Given the description of an element on the screen output the (x, y) to click on. 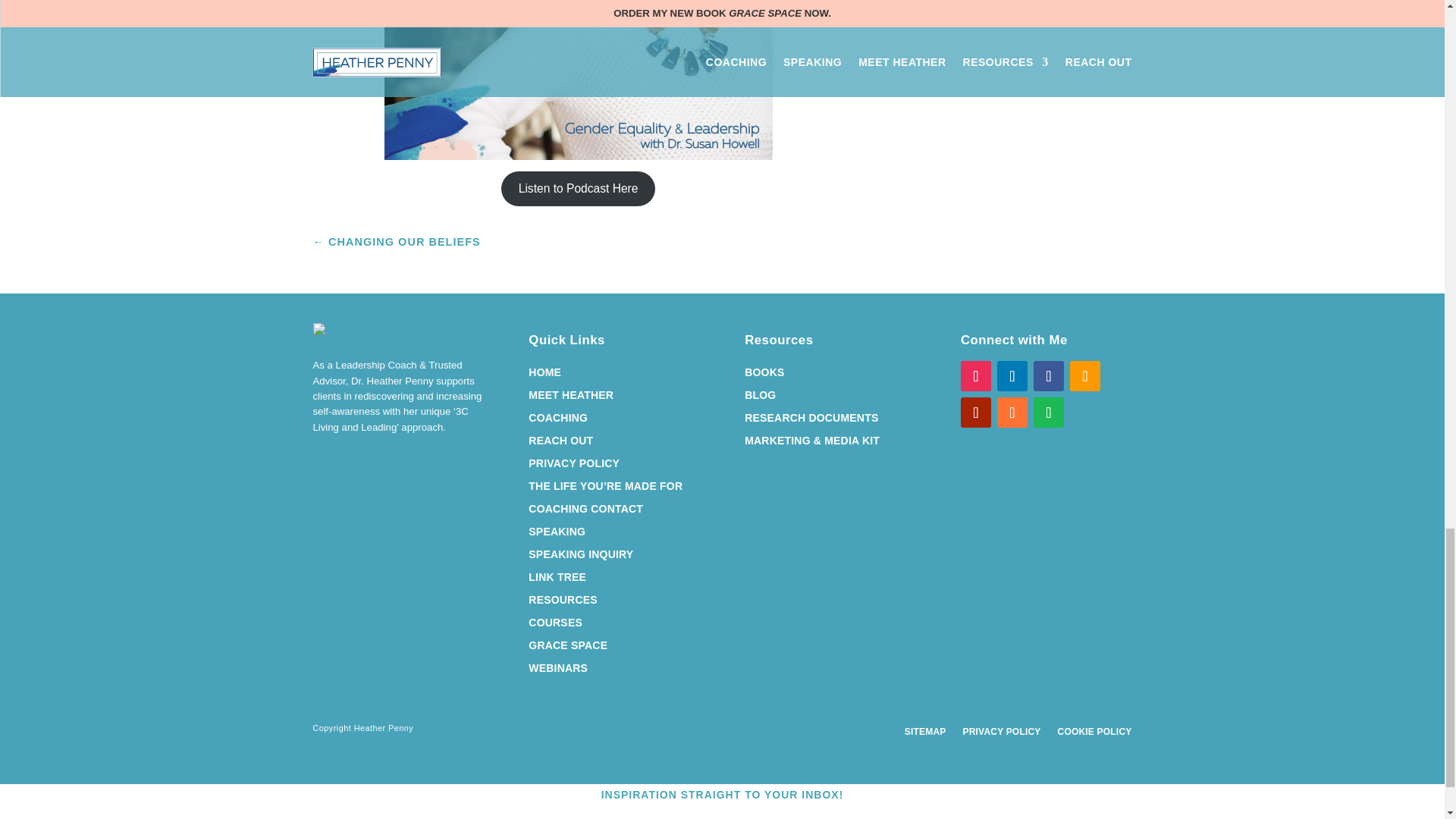
Follow on Youtube (975, 412)
Follow on Instagram (975, 376)
LINK TREE (557, 579)
Follow on Facebook (1048, 376)
Follow on Amazon (1085, 376)
BOOKS (764, 375)
Follow on Spotify (1048, 412)
RESOURCES (562, 602)
REACH OUT (560, 443)
Follow on LinkedIn (1012, 376)
